Given the description of an element on the screen output the (x, y) to click on. 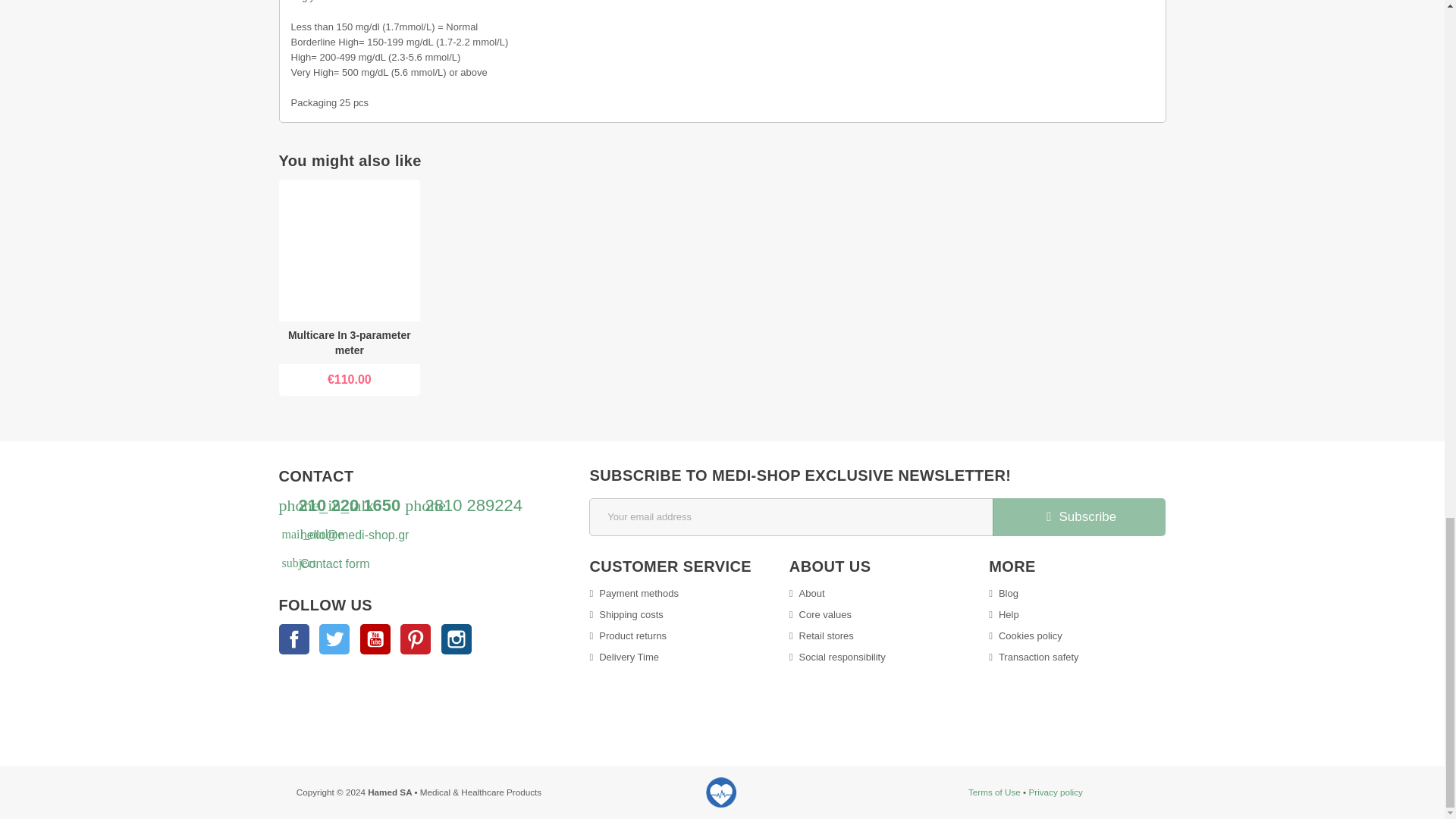
Delivery Time (624, 656)
Multicare In 3-parameter meter (349, 342)
Core values (820, 614)
YouTube (374, 639)
Instagram (456, 639)
Facebook (293, 639)
Retail stores (821, 635)
Multicare In 3-parameter meter (349, 250)
Multicare In 3-parameter meter (349, 342)
About us (807, 593)
Shipping costs (625, 614)
Social responsibility (837, 656)
Payment methods (633, 593)
YouTube (374, 639)
Product returns (627, 635)
